Given the description of an element on the screen output the (x, y) to click on. 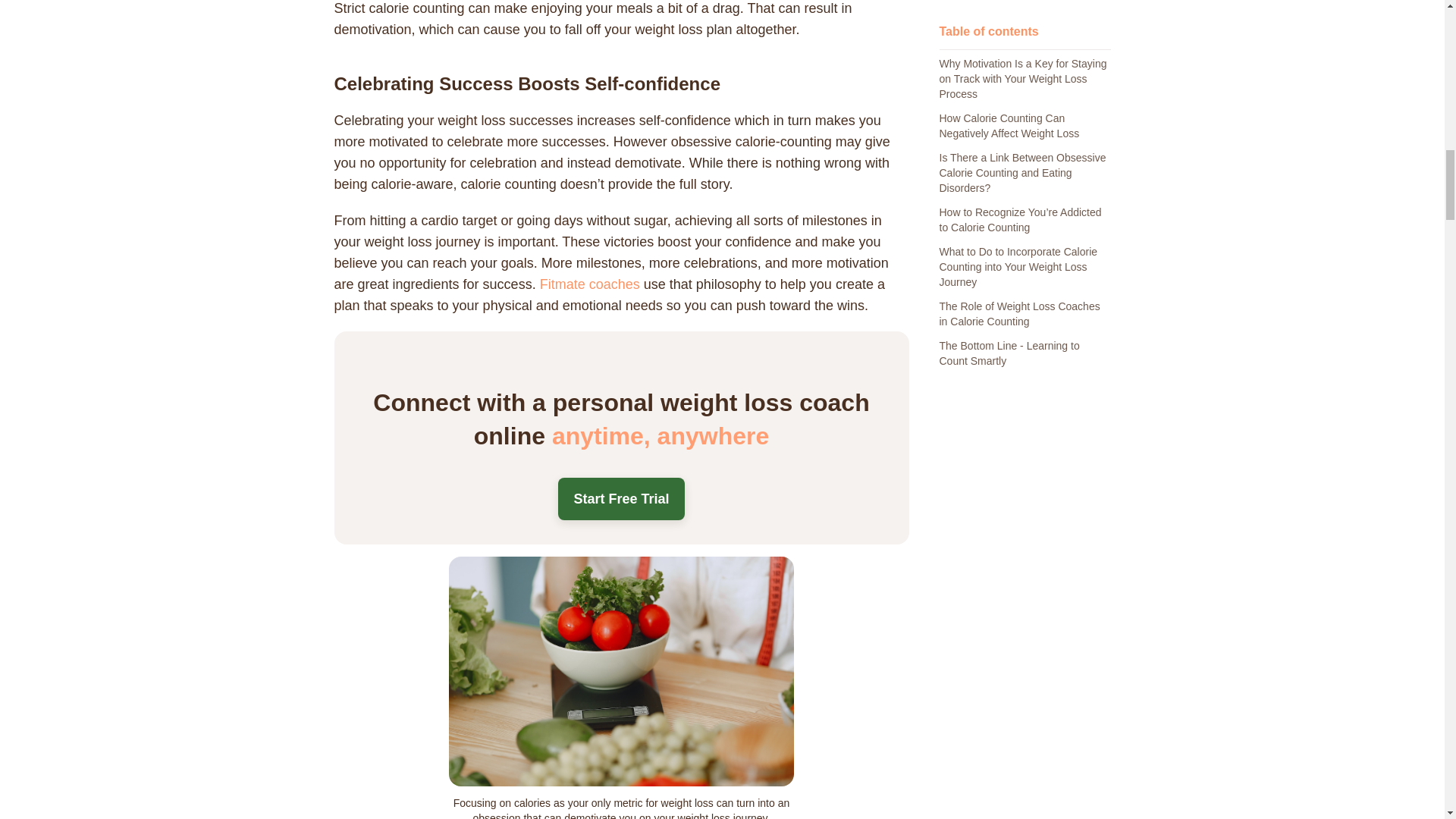
 Fitmate coaches (587, 283)
Start Free Trial (620, 498)
